Given the description of an element on the screen output the (x, y) to click on. 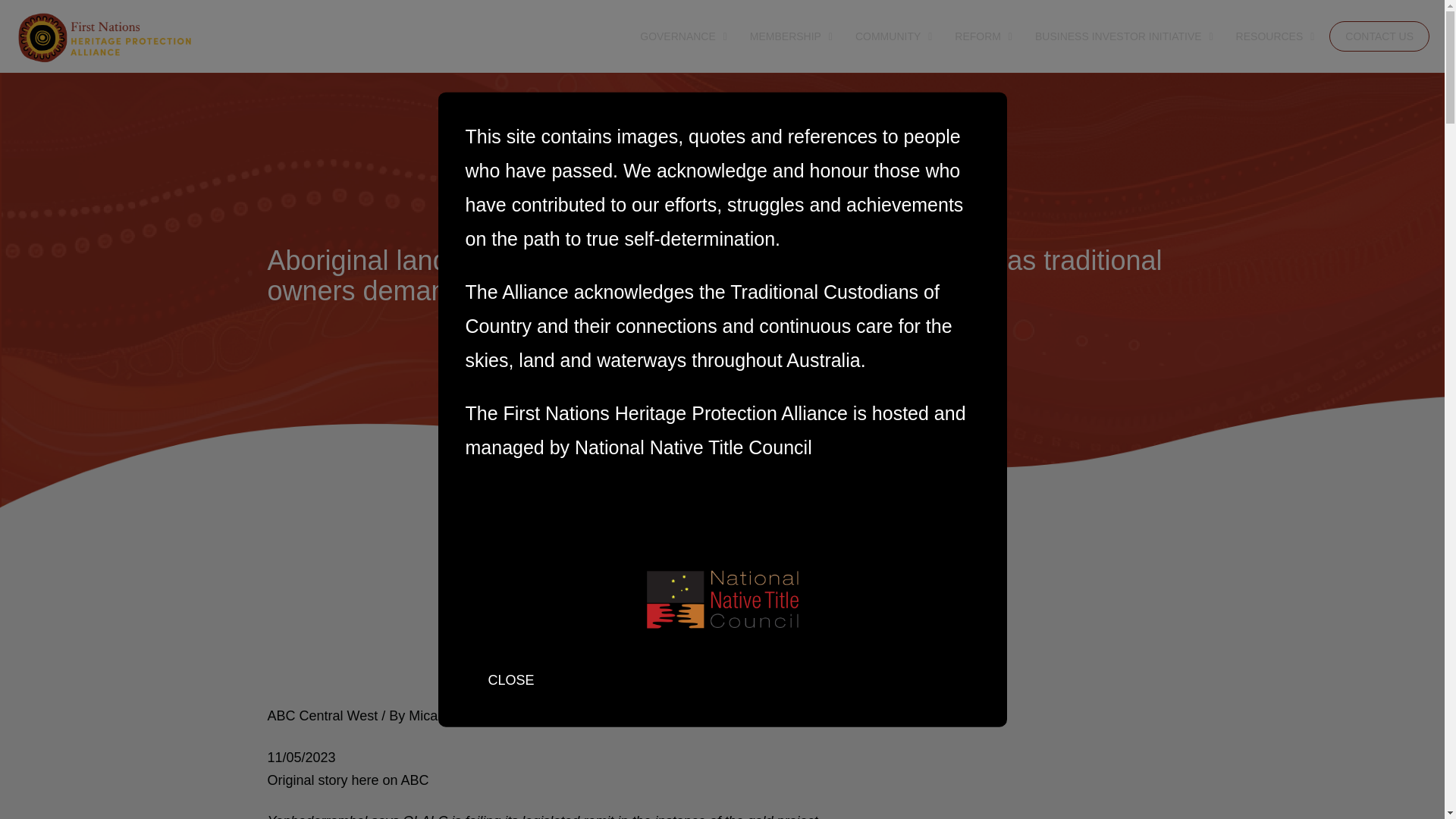
RESOURCES (1271, 36)
CONTACT US (1379, 36)
MEMBERSHIP (787, 36)
REFORM (979, 36)
BUSINESS INVESTOR INITIATIVE (1120, 36)
COMMUNITY (889, 36)
GOVERNANCE (679, 36)
